Given the description of an element on the screen output the (x, y) to click on. 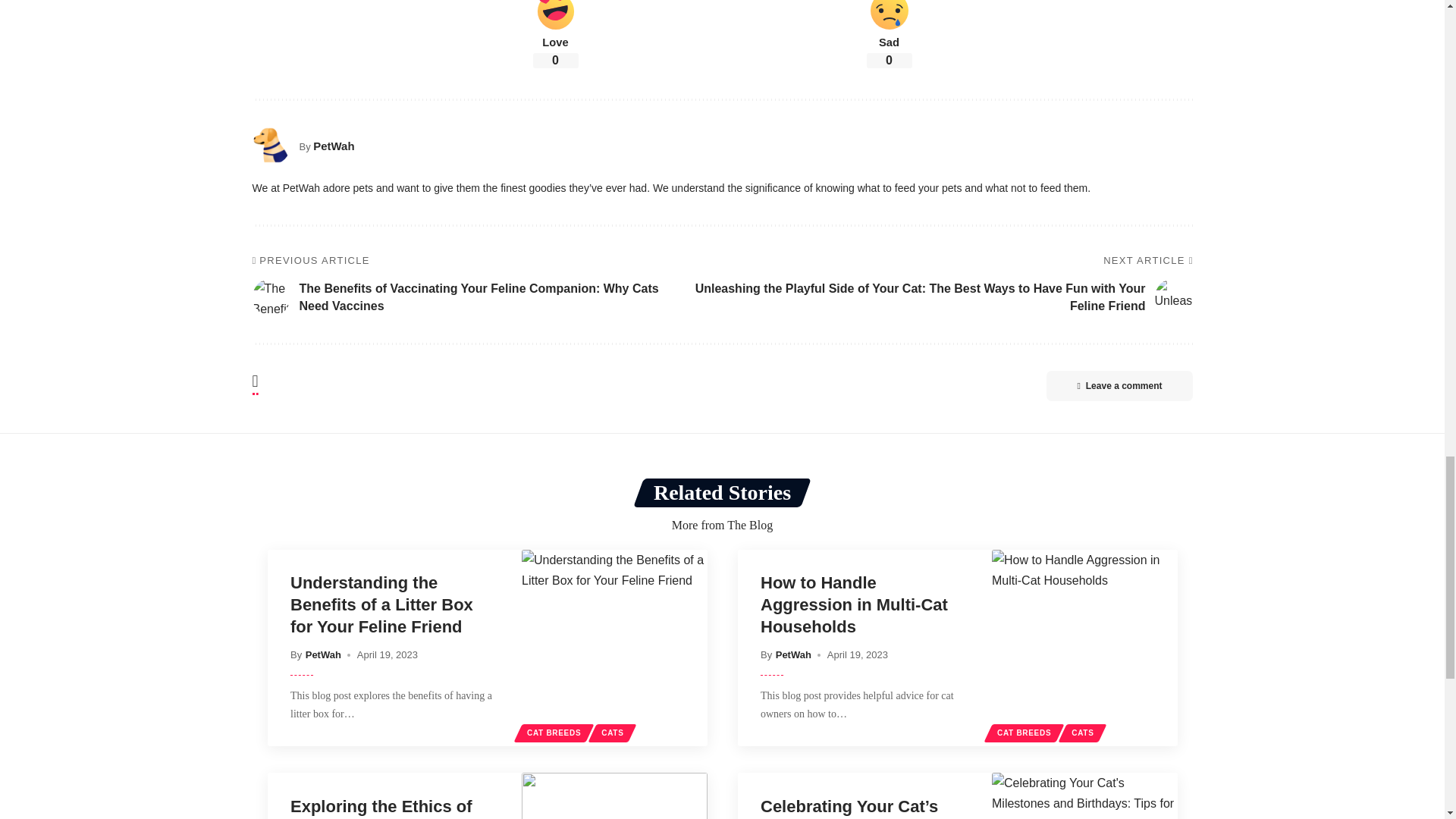
How to Handle Aggression in Multi-Cat Households (1084, 647)
